Given the description of an element on the screen output the (x, y) to click on. 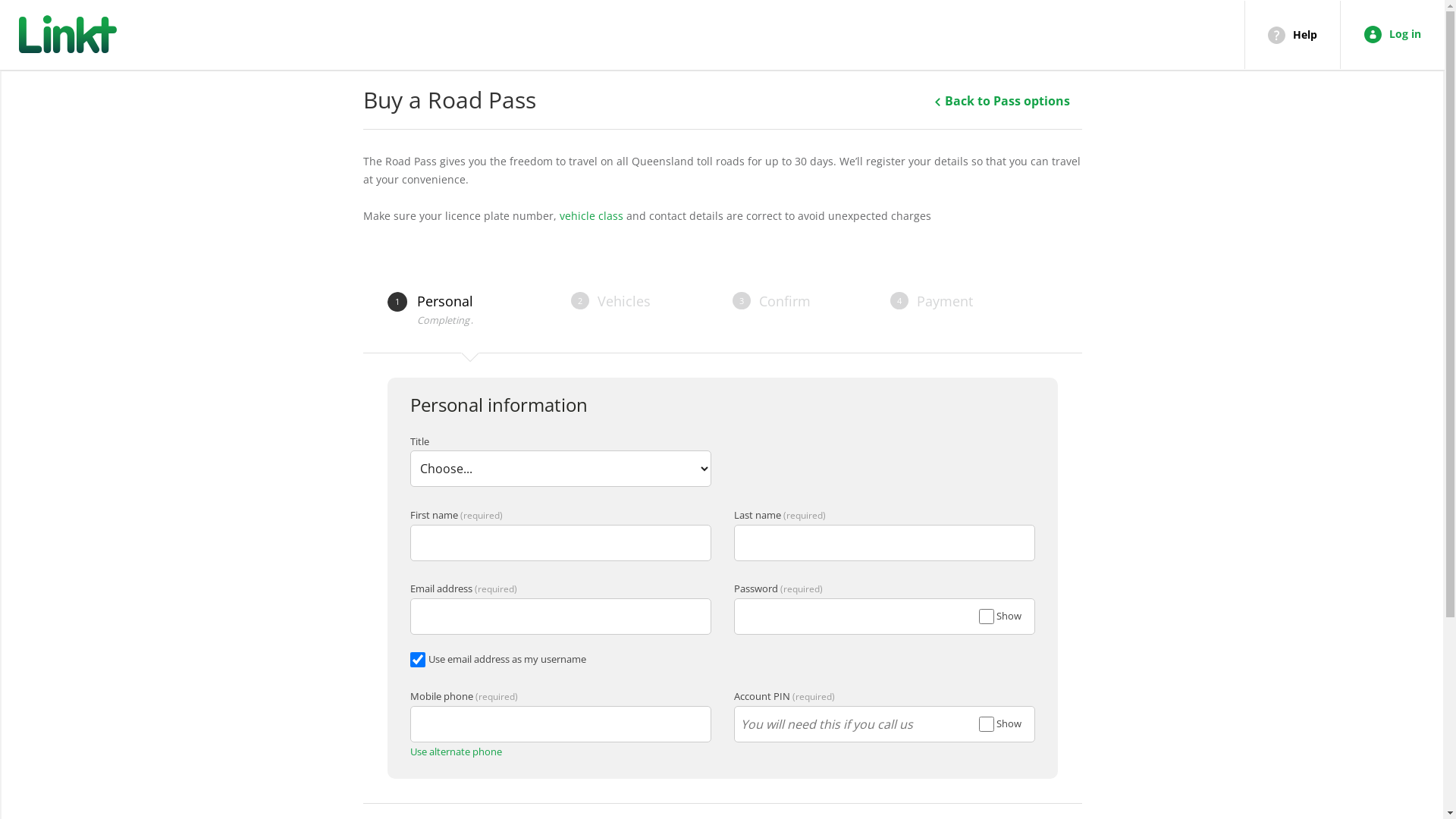
vehicle class Element type: text (591, 215)
on Element type: text (985, 723)
Help Element type: text (1292, 34)
Log in Element type: text (1392, 34)
Back to Pass options Element type: text (1001, 100)
Use alternate phone Element type: text (455, 751)
on Element type: text (985, 616)
